Given the description of an element on the screen output the (x, y) to click on. 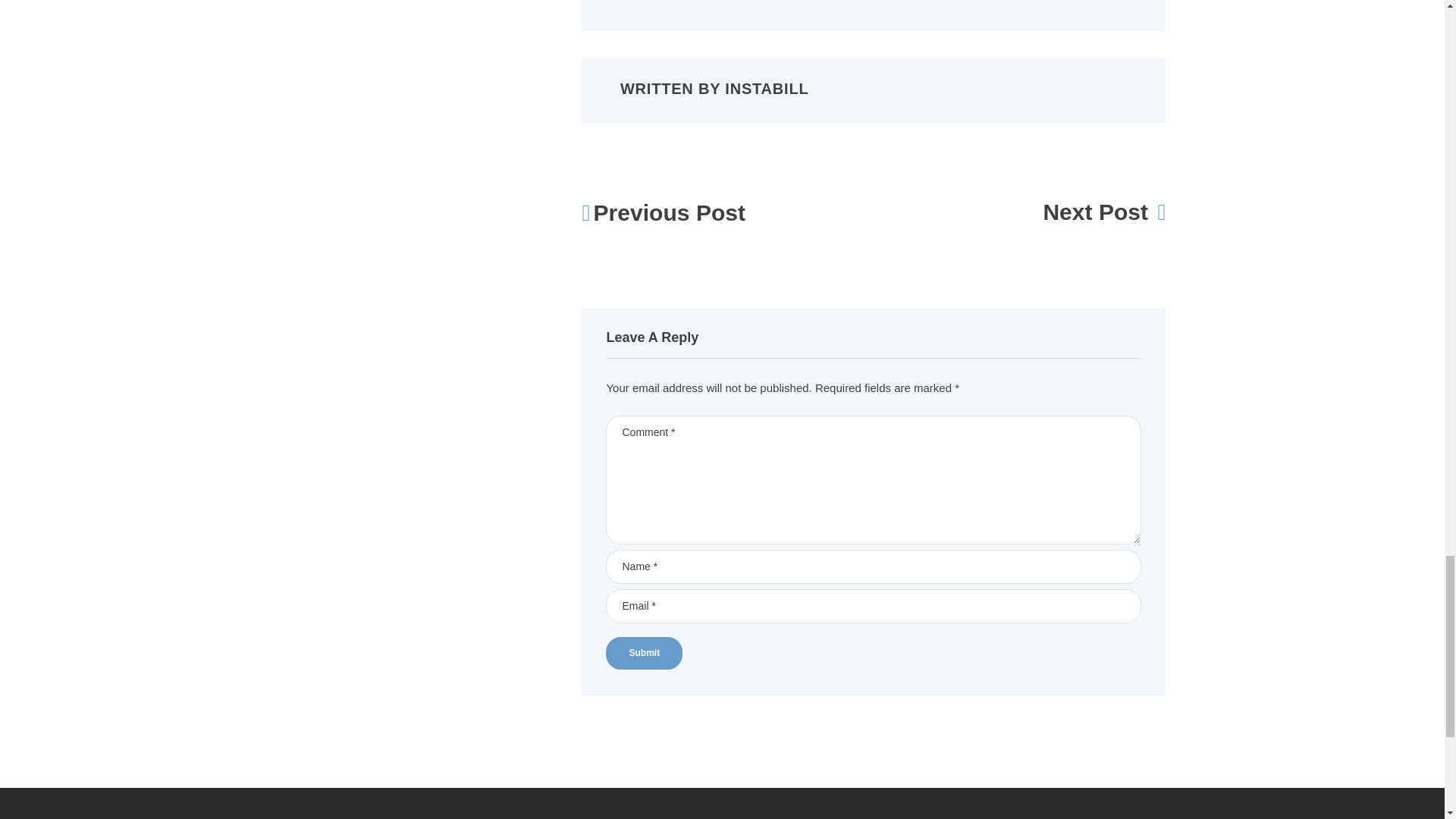
Submit (643, 653)
